Given the description of an element on the screen output the (x, y) to click on. 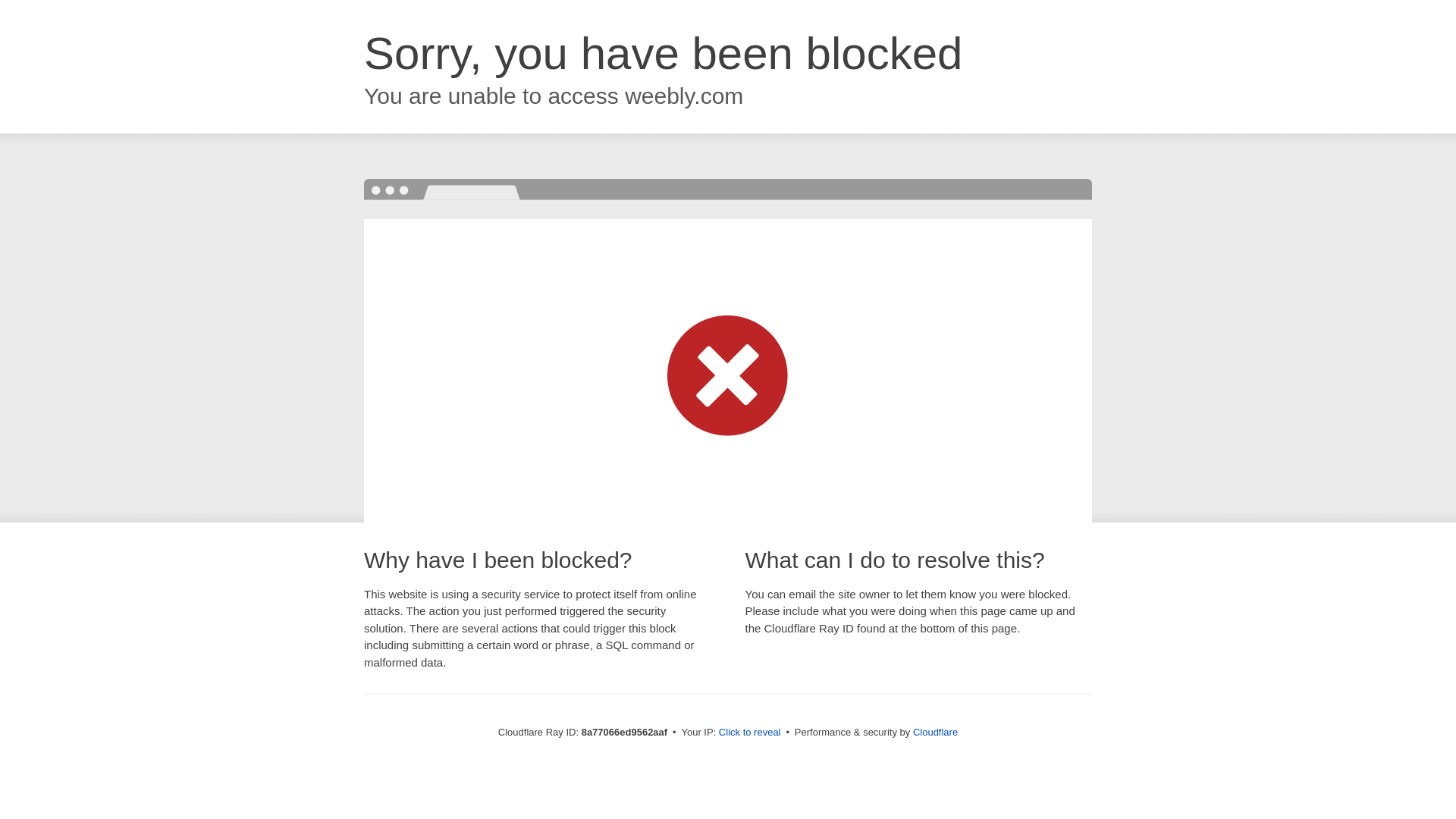
Click to reveal (749, 732)
Cloudflare (935, 731)
